Given the description of an element on the screen output the (x, y) to click on. 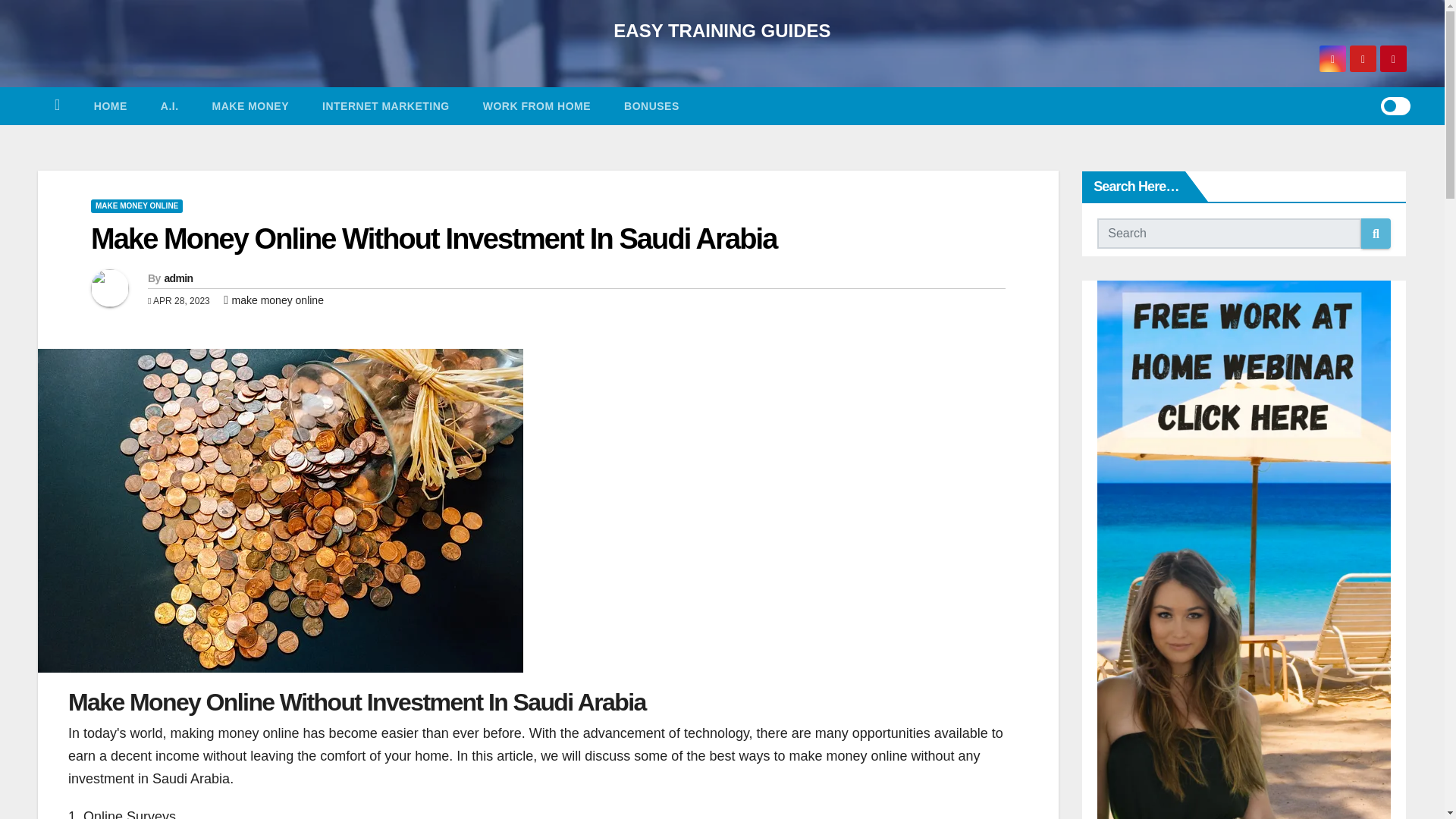
MAKE MONEY ONLINE (136, 205)
BONUSES (651, 105)
A.I. (169, 105)
Work From Home (536, 105)
make money online (277, 300)
A.I. (169, 105)
MAKE MONEY (250, 105)
Home (57, 105)
Home (110, 105)
INTERNET MARKETING (385, 105)
HOME (110, 105)
WORK FROM HOME (536, 105)
Make Money Online Without Investment In Saudi Arabia (433, 238)
Make Money (250, 105)
admin (177, 277)
